Given the description of an element on the screen output the (x, y) to click on. 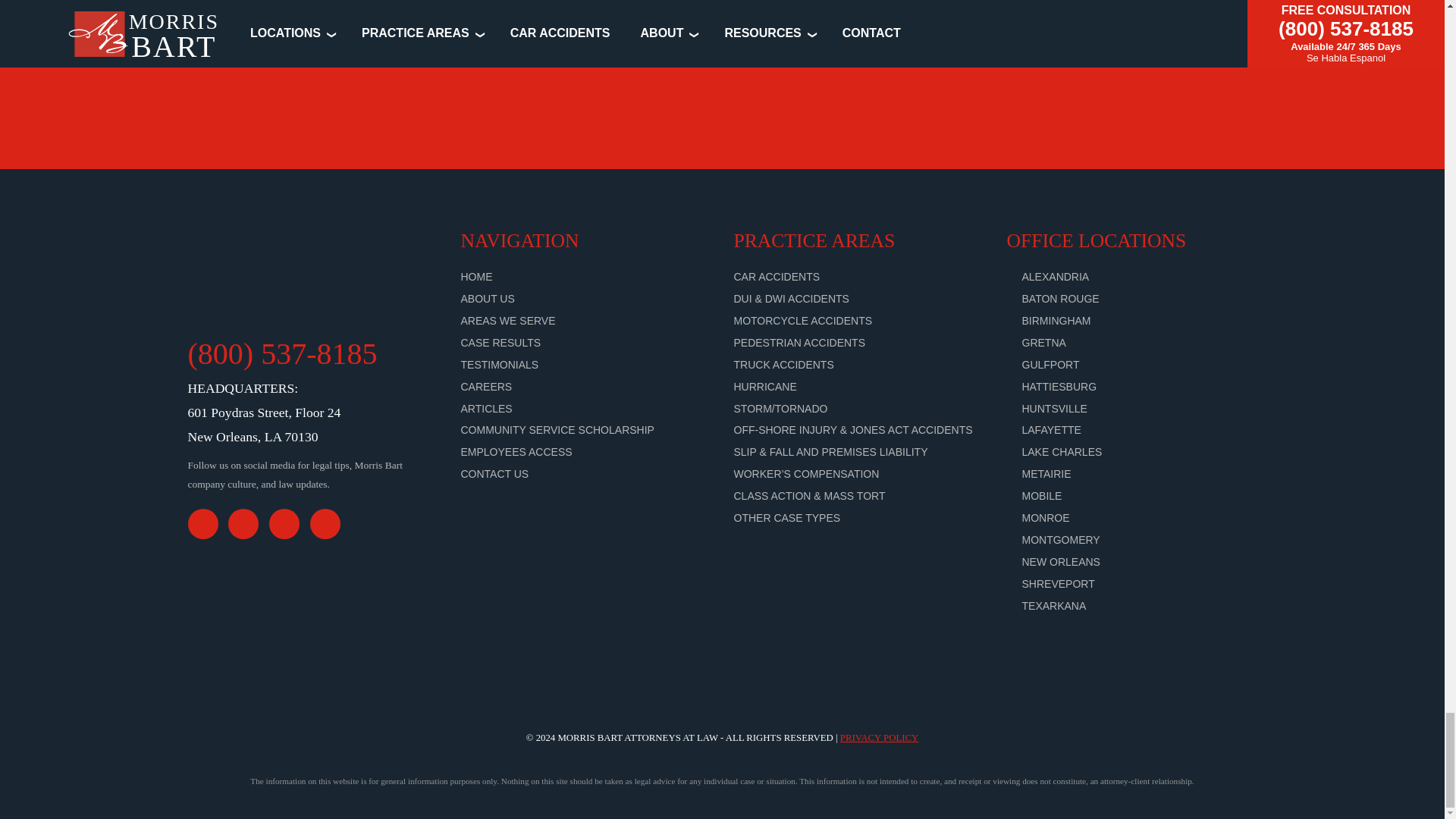
Careers (486, 386)
Areas We Serve (508, 320)
Articles (486, 408)
About us (488, 298)
Case results (501, 342)
Testimonials (499, 364)
